Given the description of an element on the screen output the (x, y) to click on. 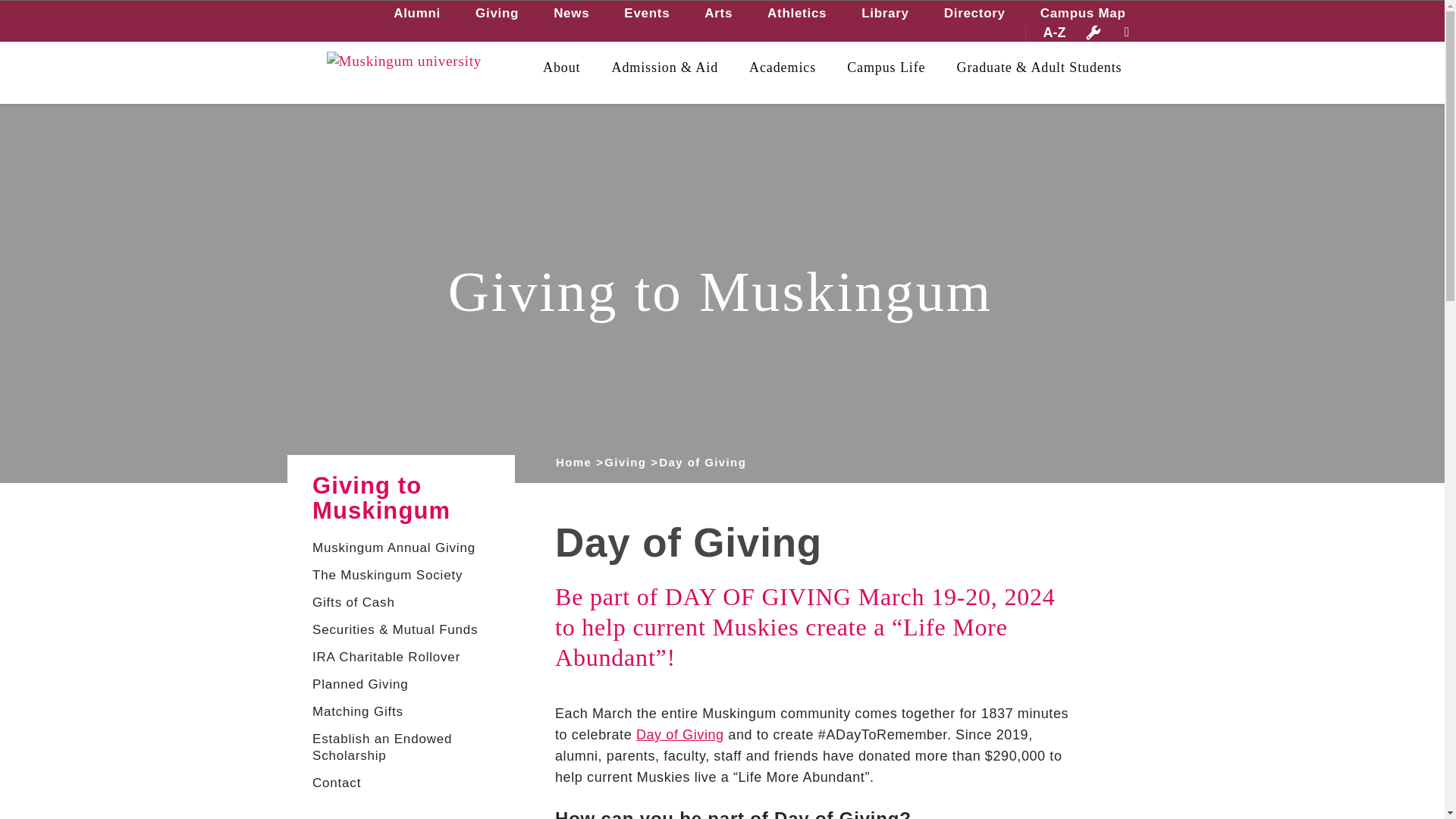
Search (33, 9)
Academics (782, 67)
Campus Life (885, 67)
About (561, 67)
Tools (1093, 32)
